Given the description of an element on the screen output the (x, y) to click on. 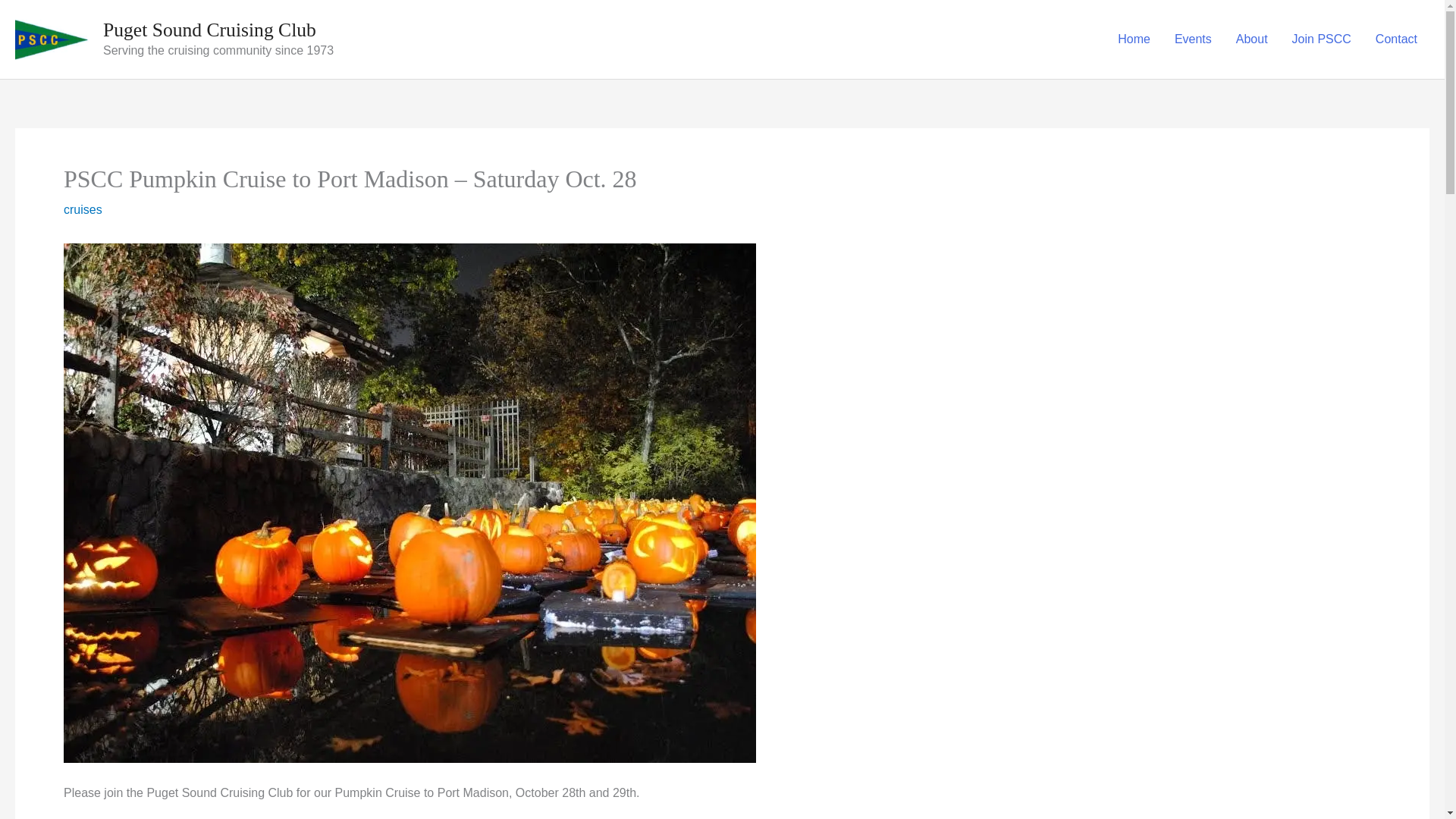
Home (1133, 39)
Puget Sound Cruising Club (209, 29)
Join PSCC (1320, 39)
Events (1192, 39)
About (1251, 39)
cruises (82, 209)
Contact (1395, 39)
